Given the description of an element on the screen output the (x, y) to click on. 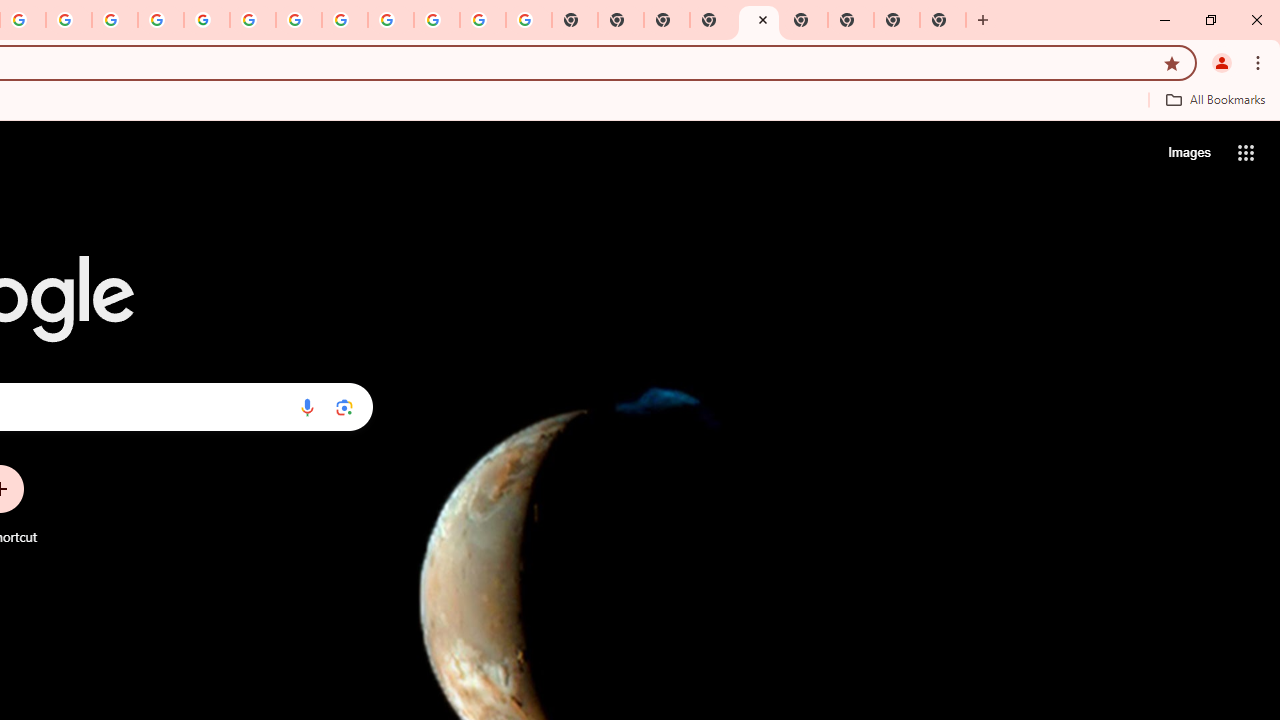
Google apps (1245, 152)
Chrome (1260, 62)
Restore (1210, 20)
YouTube (253, 20)
New Tab (712, 20)
Google Images (528, 20)
Minimize (1165, 20)
Bookmark this tab (1171, 62)
Search by image (344, 407)
All Bookmarks (1215, 99)
Browse Chrome as a guest - Computer - Google Chrome Help (299, 20)
